Given the description of an element on the screen output the (x, y) to click on. 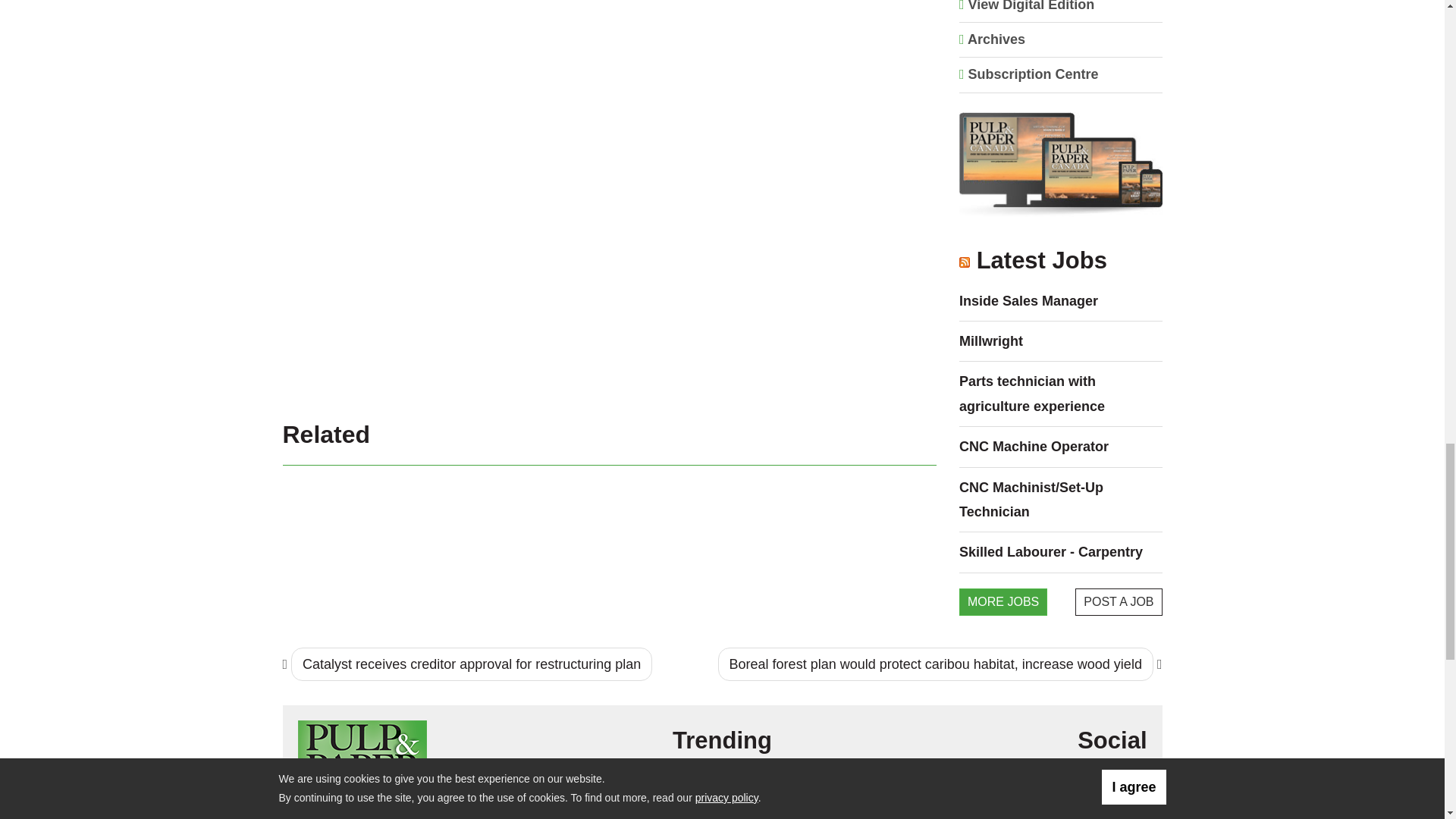
Pulp and Paper Canada (361, 759)
